Given the description of an element on the screen output the (x, y) to click on. 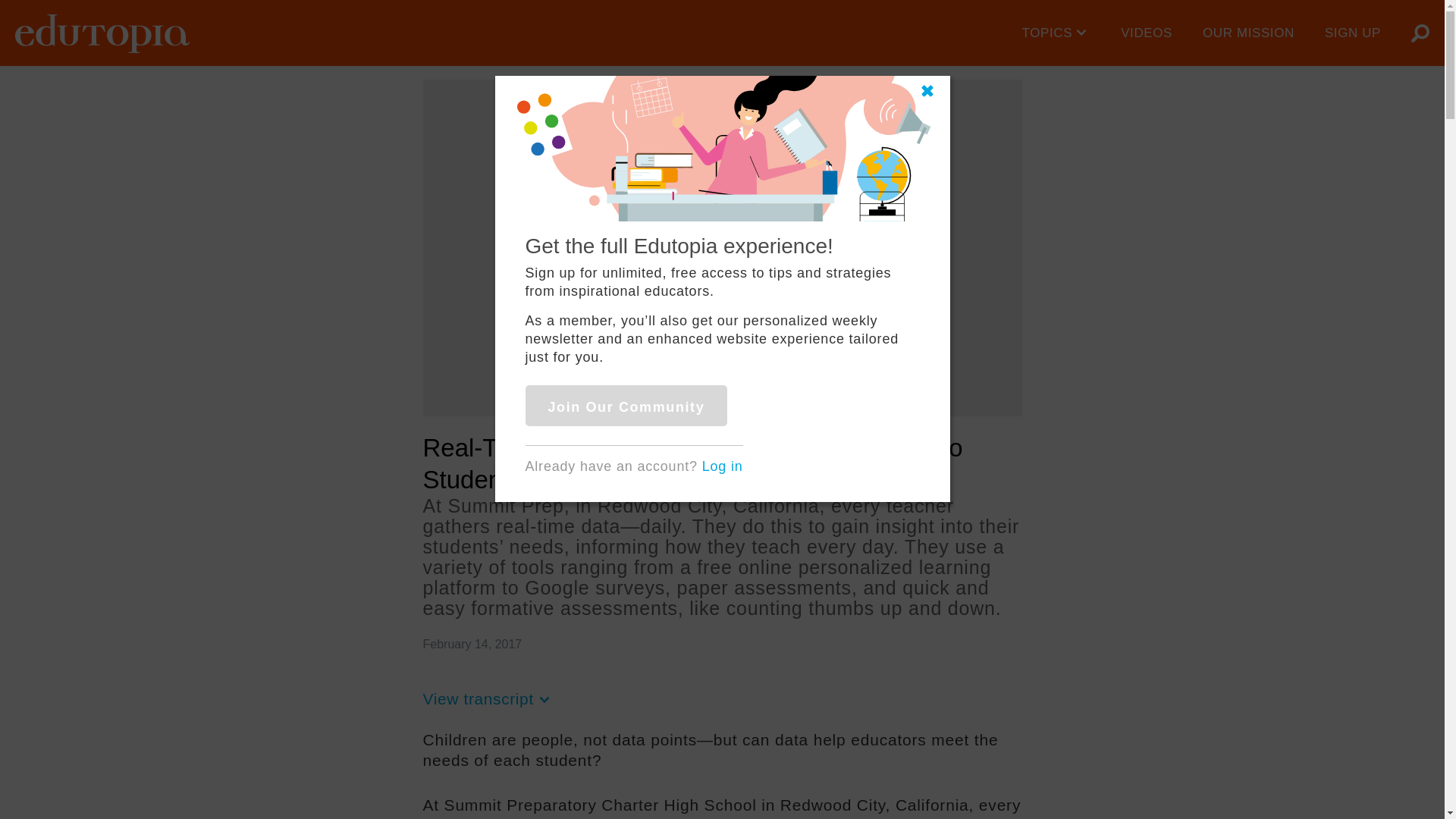
TOPICS (1056, 33)
Edutopia (101, 33)
View transcript (488, 698)
VIDEOS (1146, 33)
SIGN UP (1352, 33)
OUR MISSION (1248, 33)
Edutopia (101, 33)
